Given the description of an element on the screen output the (x, y) to click on. 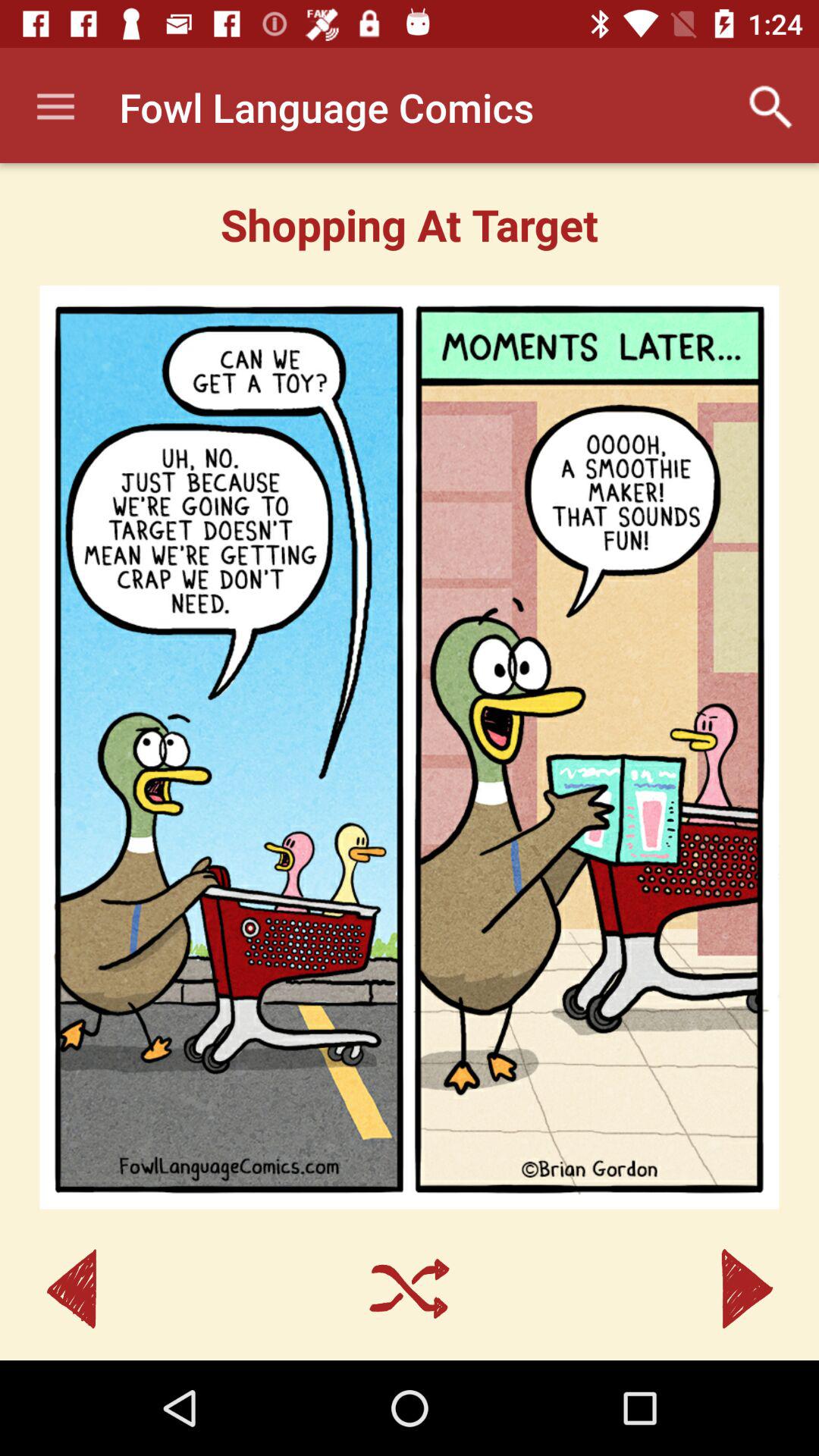
turn on the item below shopping at target (409, 747)
